Given the description of an element on the screen output the (x, y) to click on. 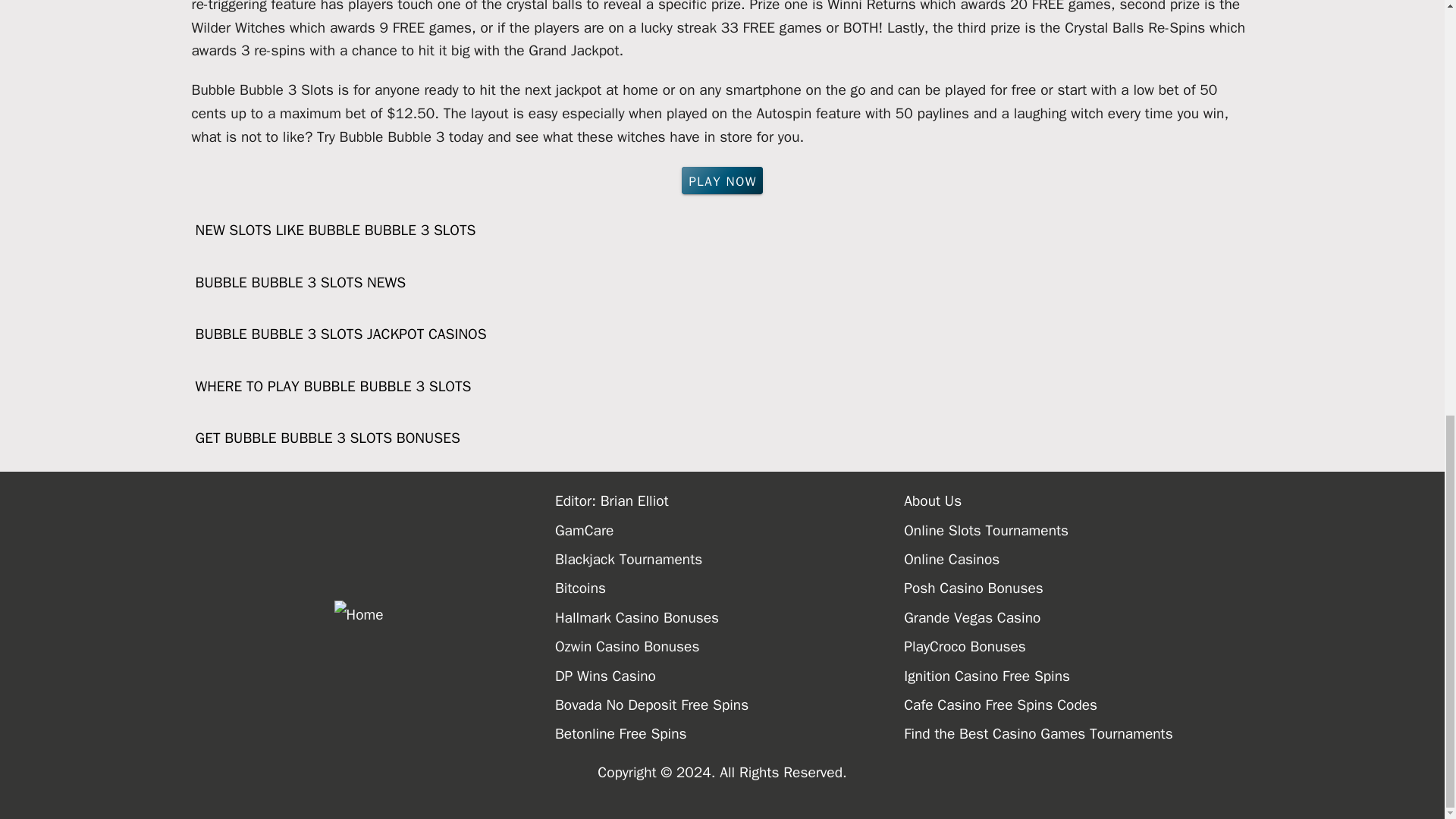
Ozwin Casino Bonuses (729, 646)
Find the Best Casino Games Tournaments (1078, 733)
Ignition Casino Free Spins (1078, 676)
Bitcoins (729, 588)
Online Slots Tournaments (1078, 530)
Blackjack Tournaments (729, 559)
PLAY NOW (721, 180)
Online Casinos (1078, 559)
DP Wins Casino (729, 676)
PlayCroco Bonuses (1078, 646)
